Given the description of an element on the screen output the (x, y) to click on. 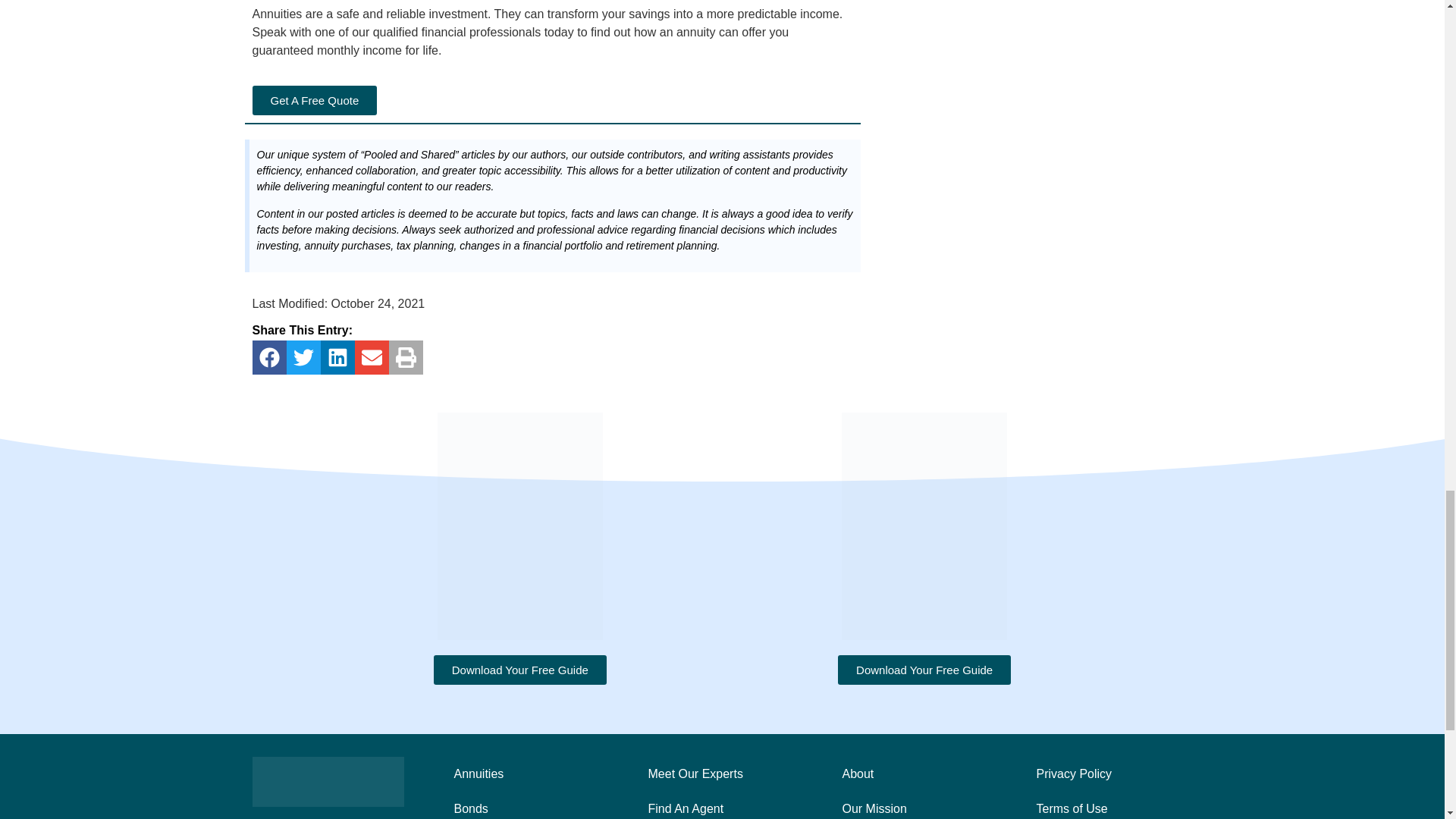
Get A Free Quote (314, 100)
